Given the description of an element on the screen output the (x, y) to click on. 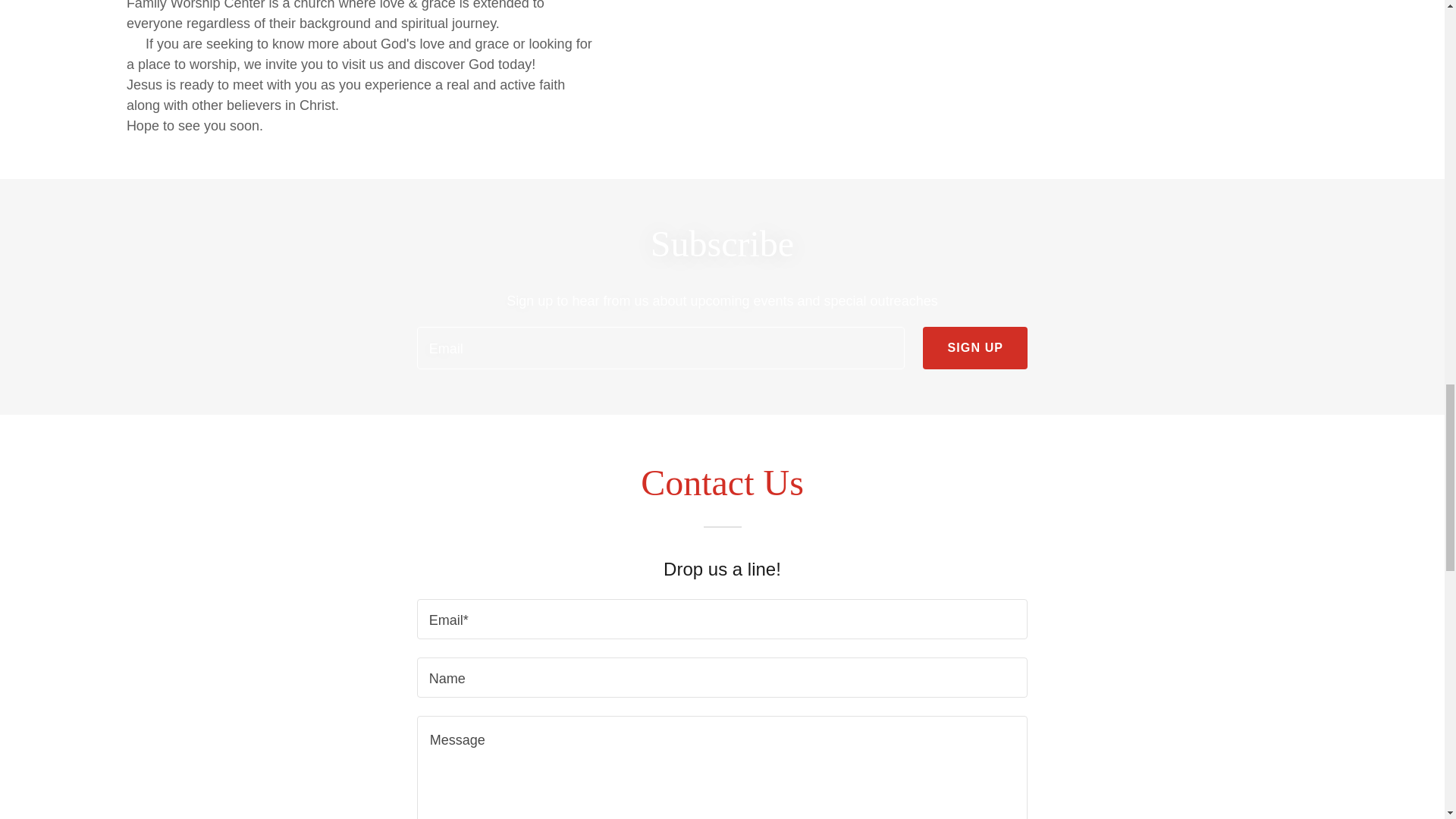
SIGN UP (975, 347)
